Given the description of an element on the screen output the (x, y) to click on. 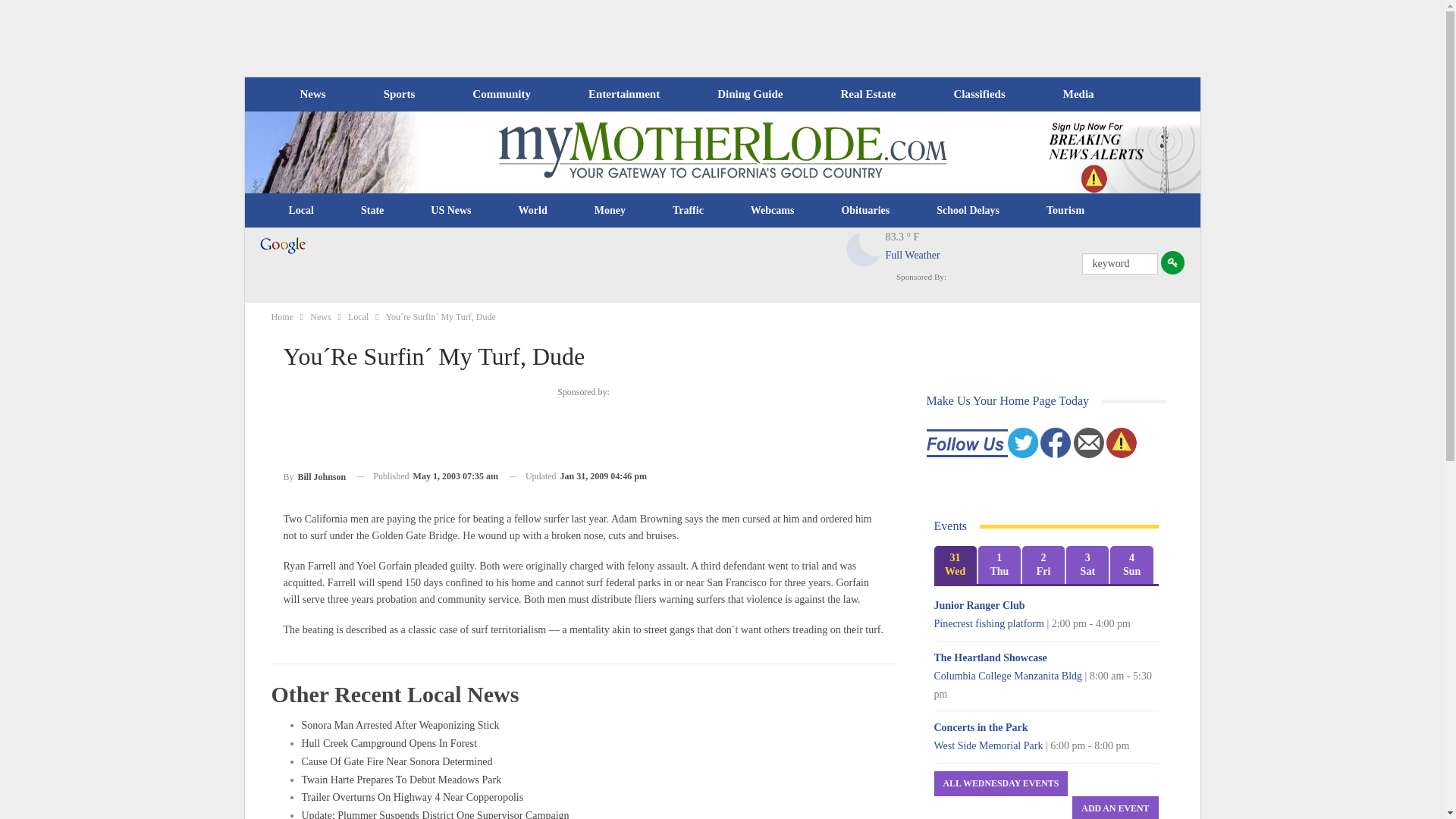
Add An Event (1114, 807)
Community (501, 93)
Submit (1172, 262)
Clear (864, 249)
Tourism (1065, 210)
Entertainment (624, 93)
Real Estate (868, 93)
Traffic (687, 210)
All Wednesday Events (1001, 783)
Media (1078, 93)
Webcams (772, 210)
US News (451, 210)
State (372, 210)
